Given the description of an element on the screen output the (x, y) to click on. 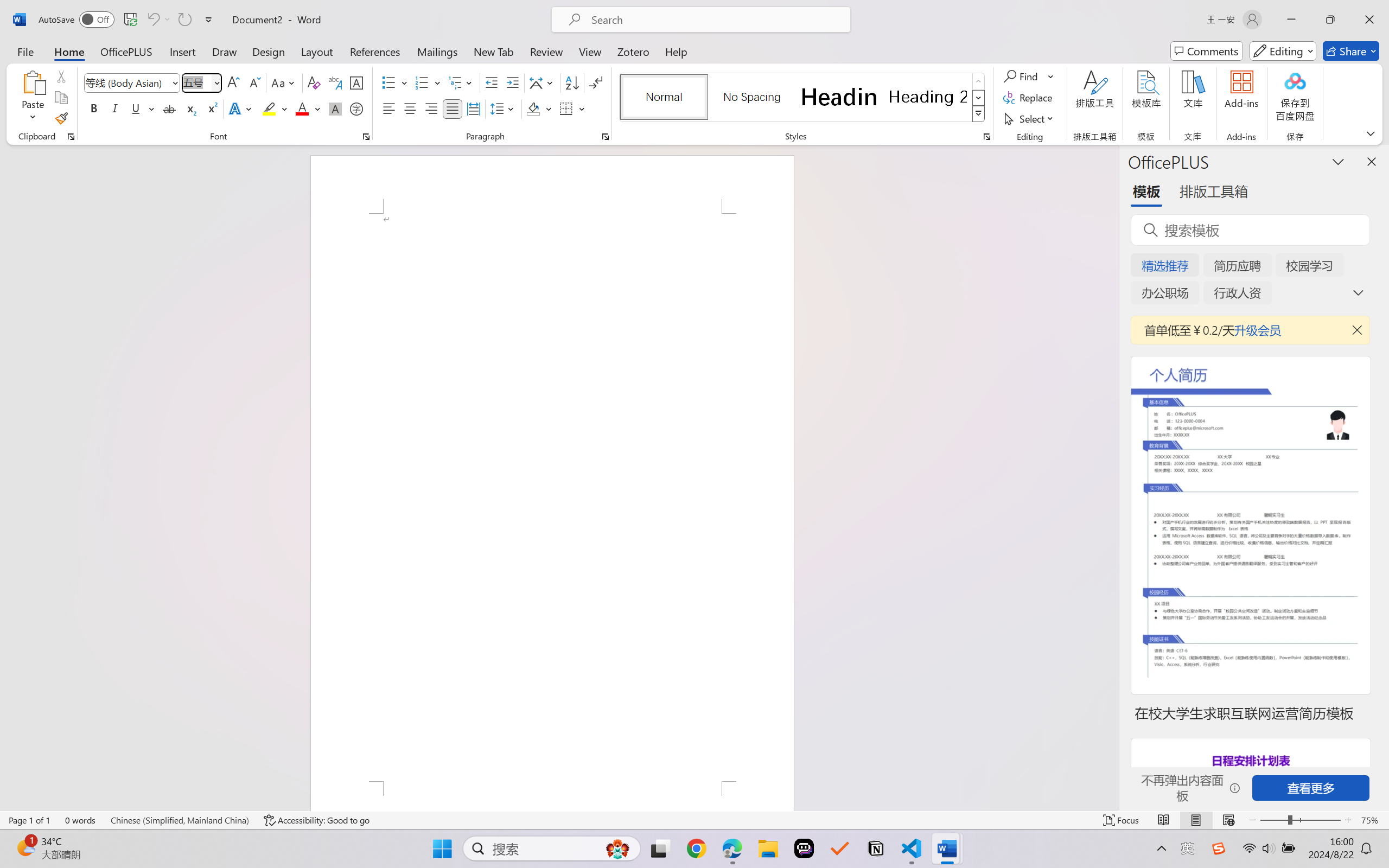
Underline (142, 108)
Font... (365, 136)
Multilevel List (461, 82)
Clear Formatting (313, 82)
Change Case (284, 82)
Paste (33, 81)
Grow Font (233, 82)
File Tab (24, 51)
Save (130, 19)
Close (1369, 19)
Format Painter (60, 118)
